Given the description of an element on the screen output the (x, y) to click on. 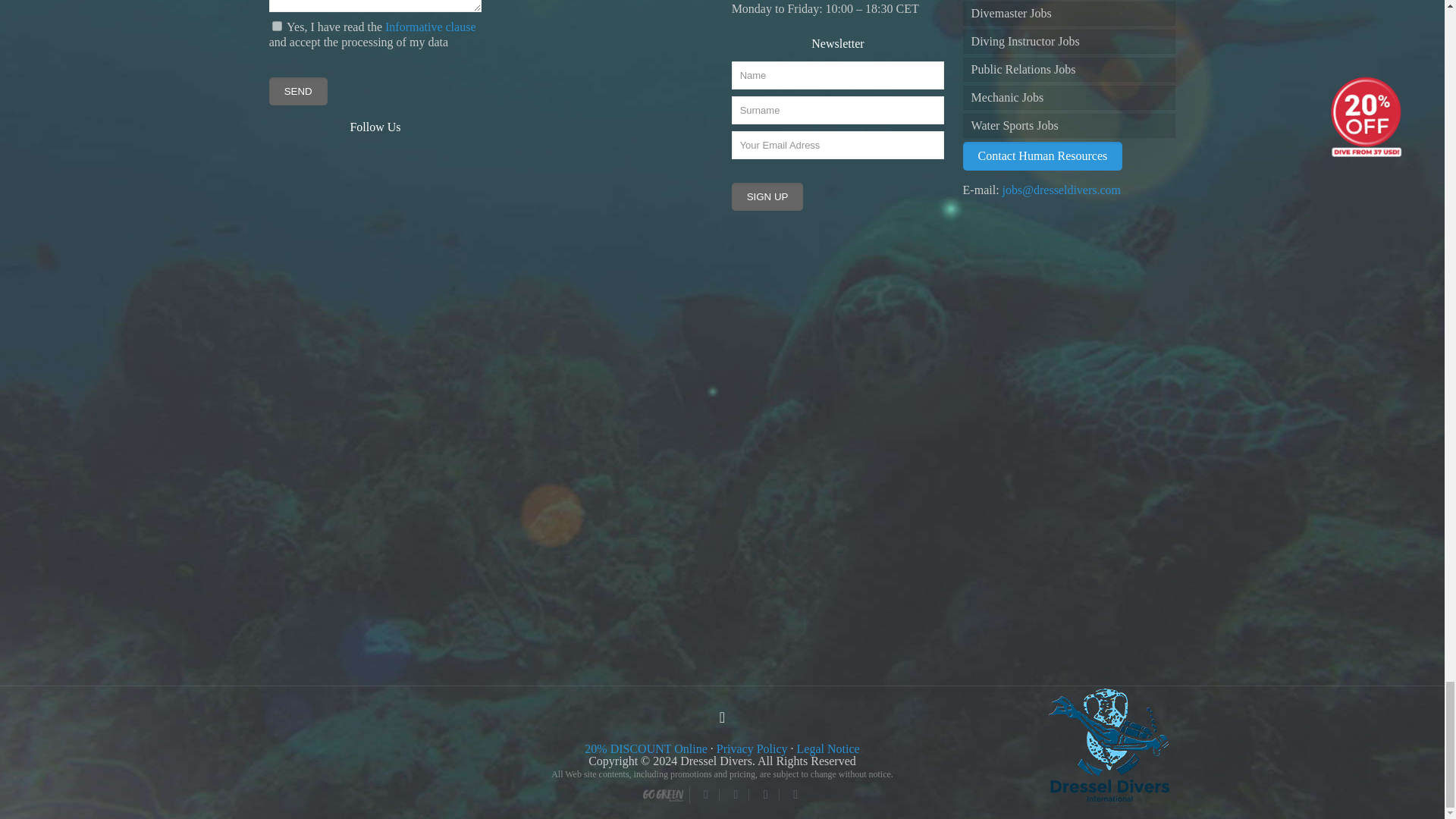
SIGN UP (767, 196)
SEND (298, 90)
1 (277, 26)
